Given the description of an element on the screen output the (x, y) to click on. 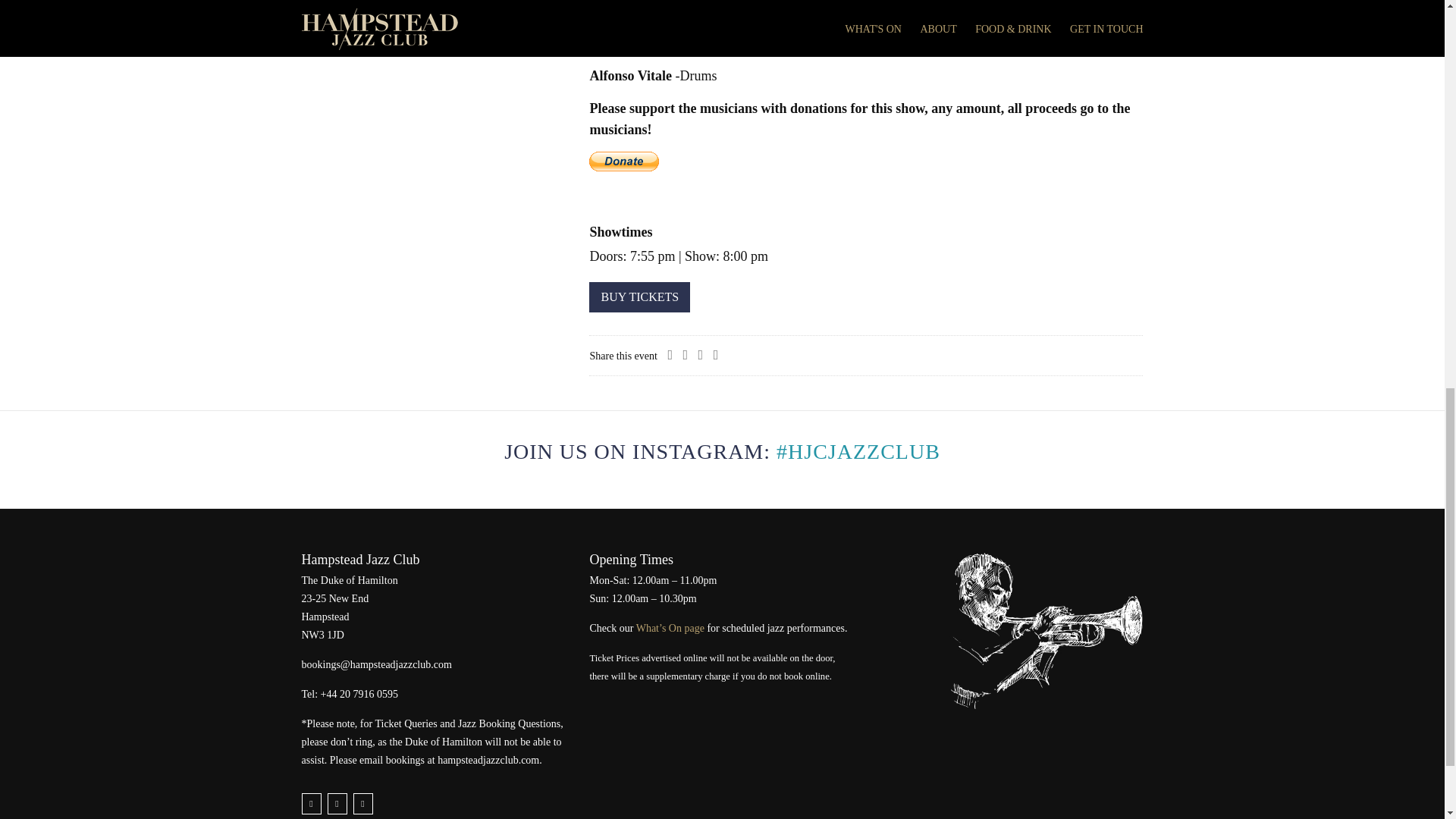
Follow Hampstead Jazz Club on Facebook (337, 803)
PayPal - The safer, easier way to pay online! (624, 161)
Follow Hampstead Jazz Club on Instagram (362, 803)
BUY TICKETS (639, 296)
Follow Hampstead Jazz Club on Twitter (311, 803)
